Given the description of an element on the screen output the (x, y) to click on. 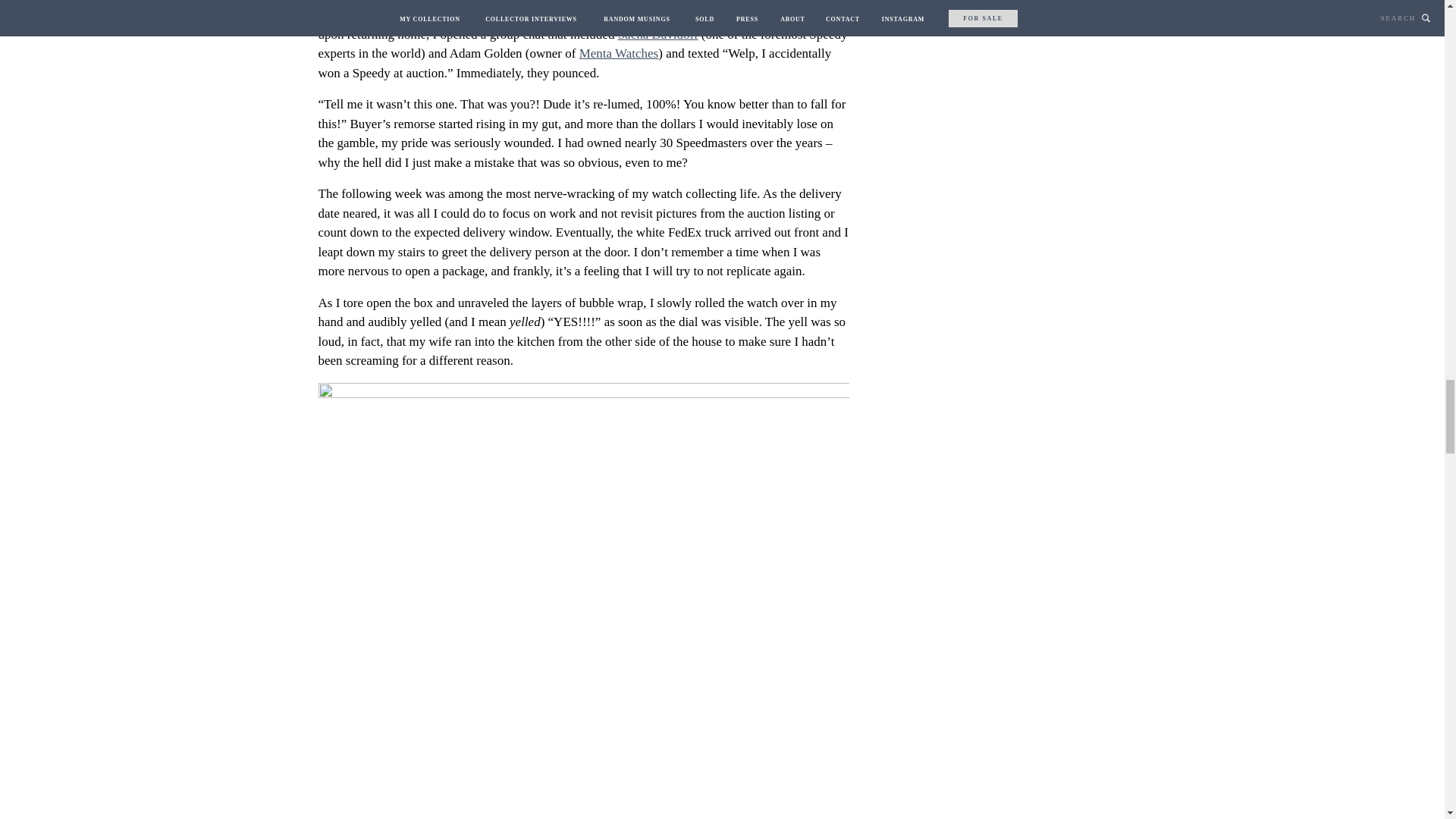
Menta Watches (619, 52)
Sacha Davidoff (657, 34)
